Given the description of an element on the screen output the (x, y) to click on. 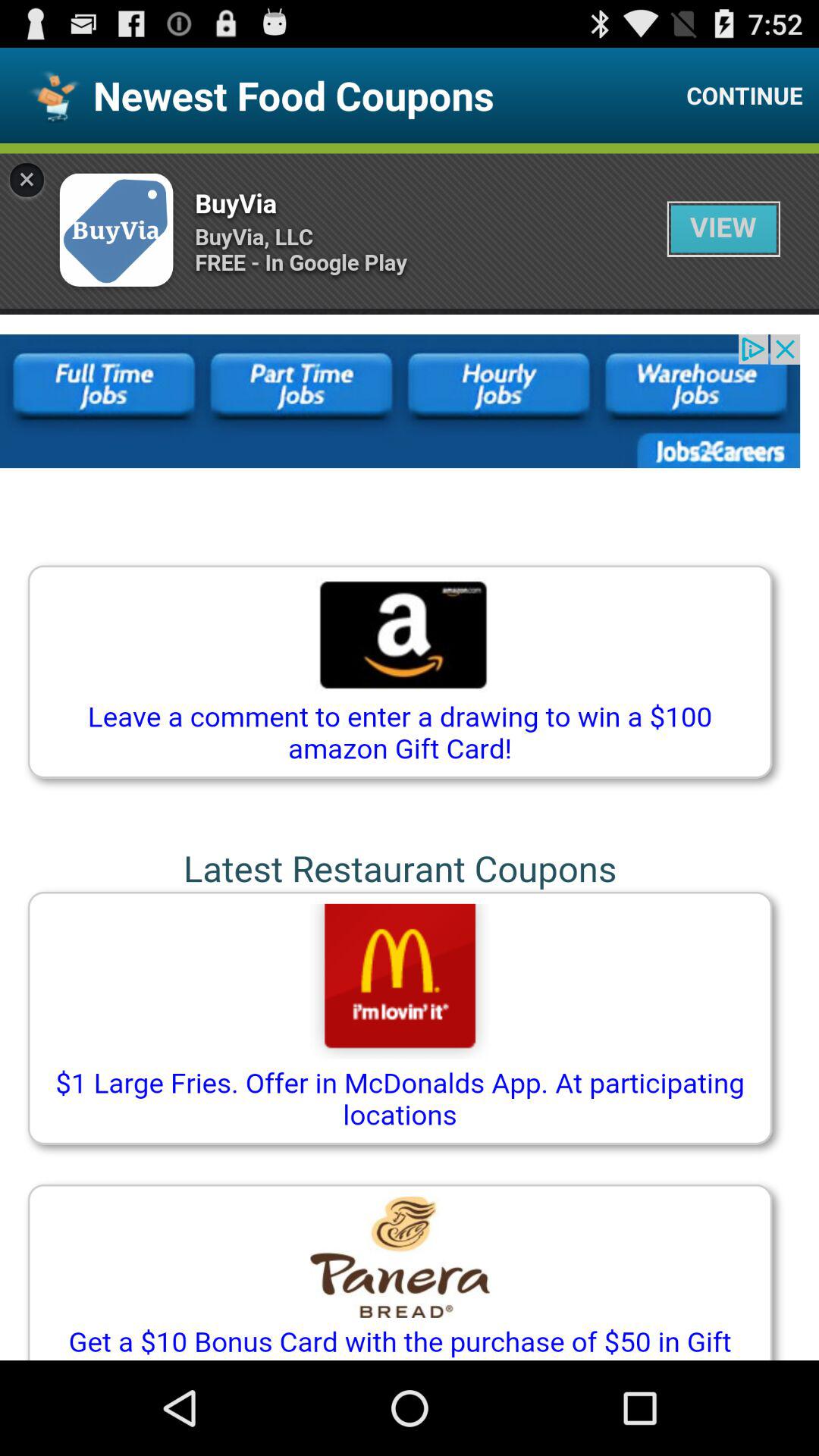
go to advertisement (409, 751)
